Given the description of an element on the screen output the (x, y) to click on. 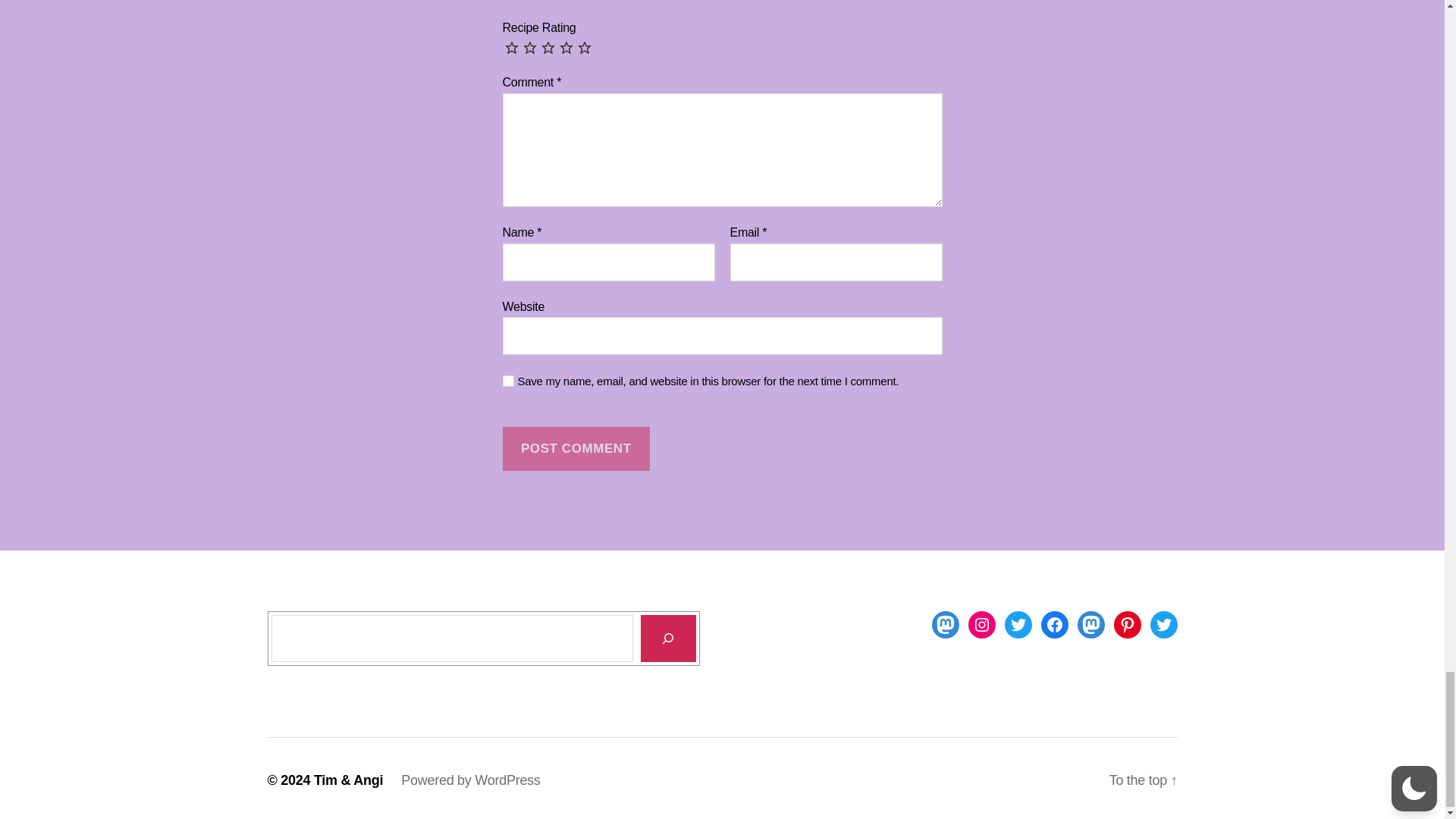
yes (507, 380)
Post Comment (575, 448)
